Given the description of an element on the screen output the (x, y) to click on. 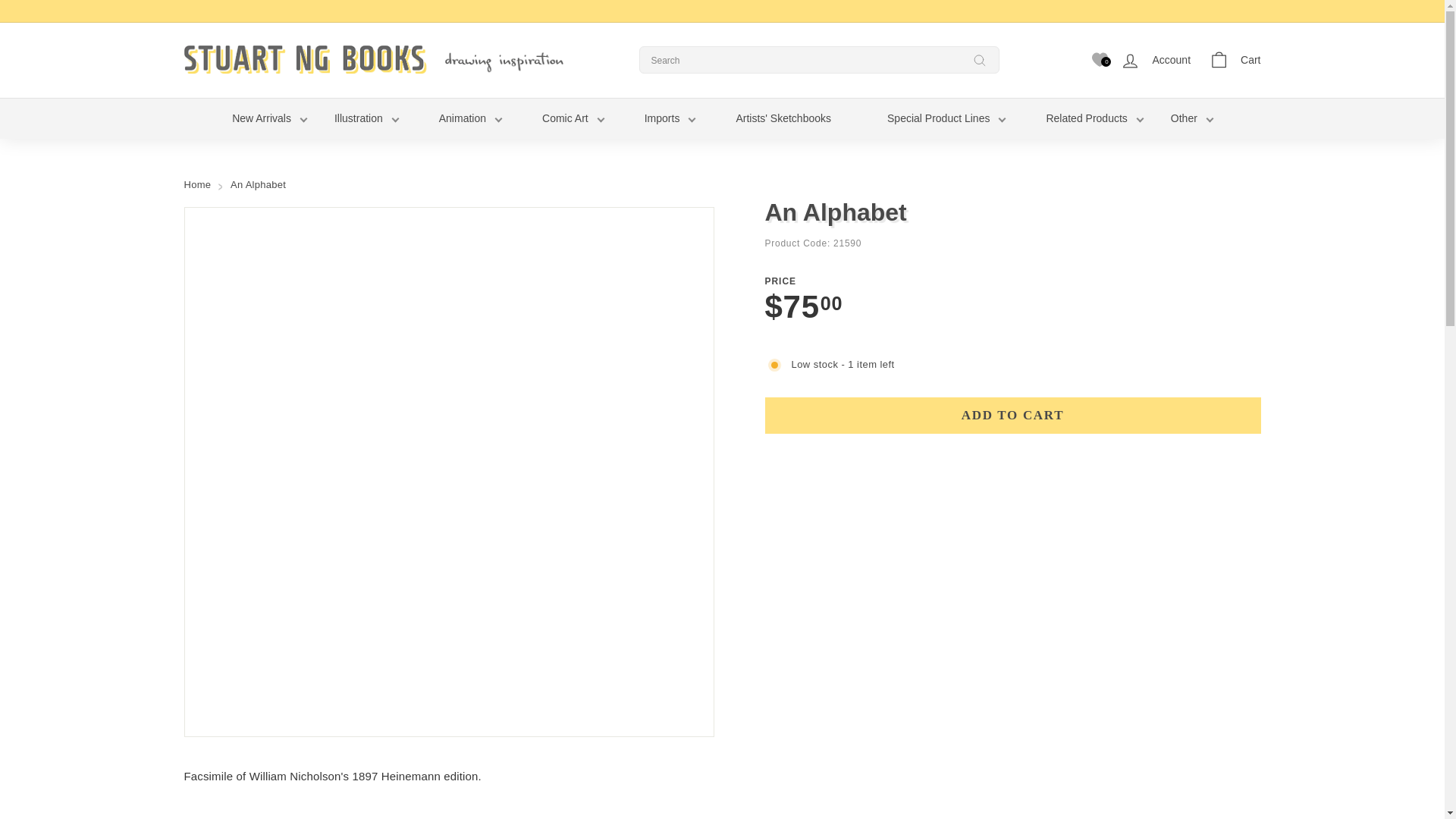
Account (1154, 59)
